Given the description of an element on the screen output the (x, y) to click on. 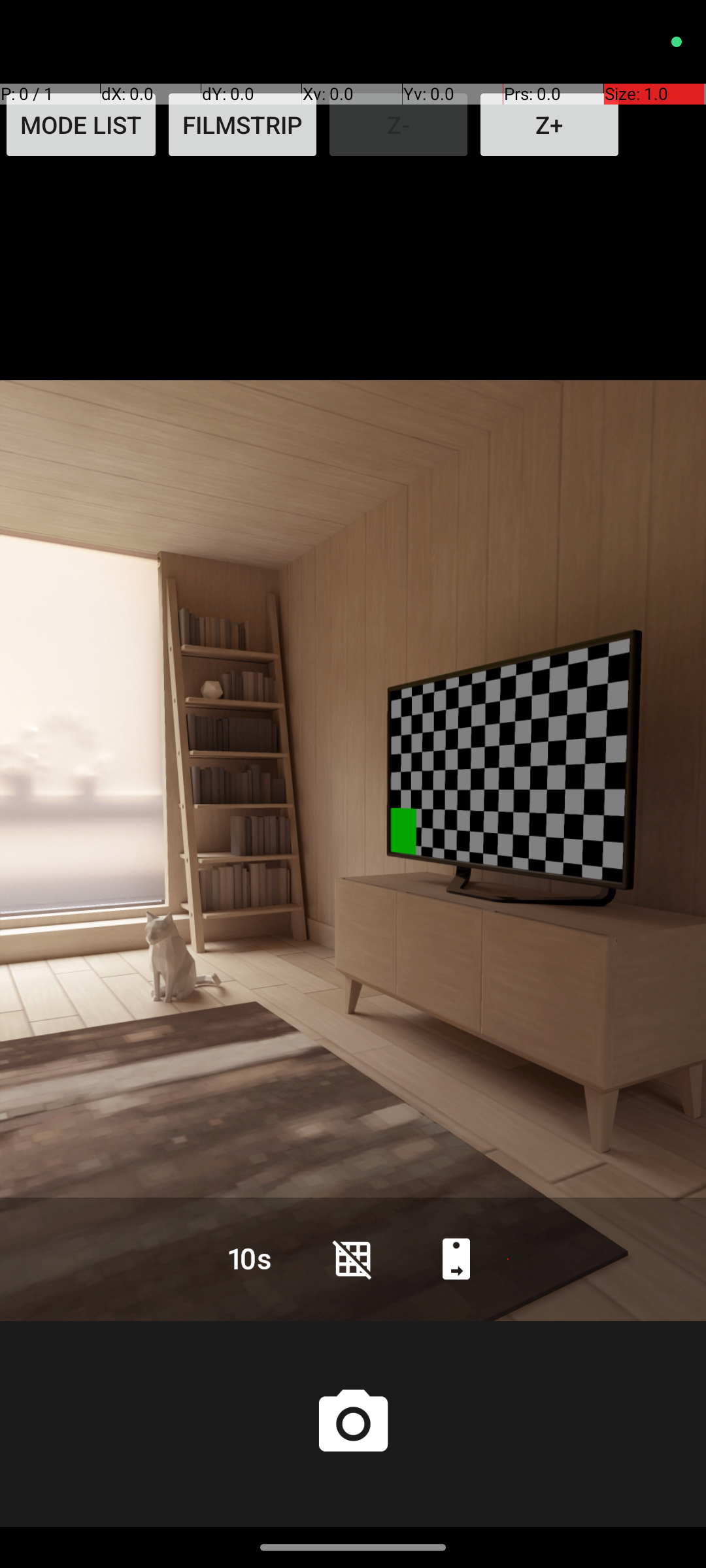
Countdown timer duration is set to 10 seconds Element type: android.widget.ImageButton (249, 1258)
